Given the description of an element on the screen output the (x, y) to click on. 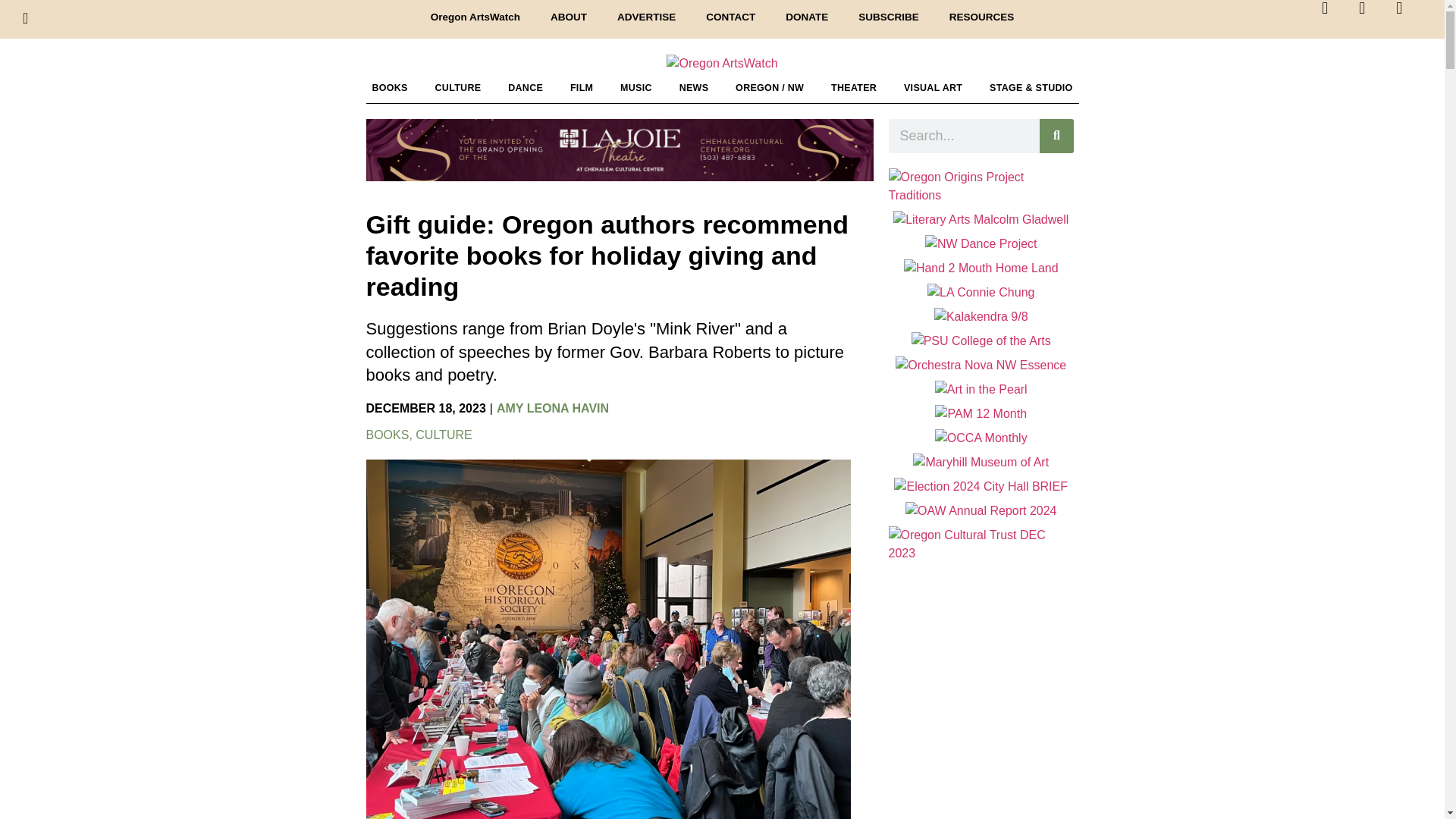
Oregon ArtsWatch (721, 63)
CULTURE (458, 87)
CONTACT (730, 17)
DONATE (806, 17)
SUBSCRIBE (888, 17)
Oregon ArtsWatch (474, 17)
ADVERTISE (646, 17)
RESOURCES (981, 17)
BOOKS (389, 87)
ABOUT (568, 17)
